Given the description of an element on the screen output the (x, y) to click on. 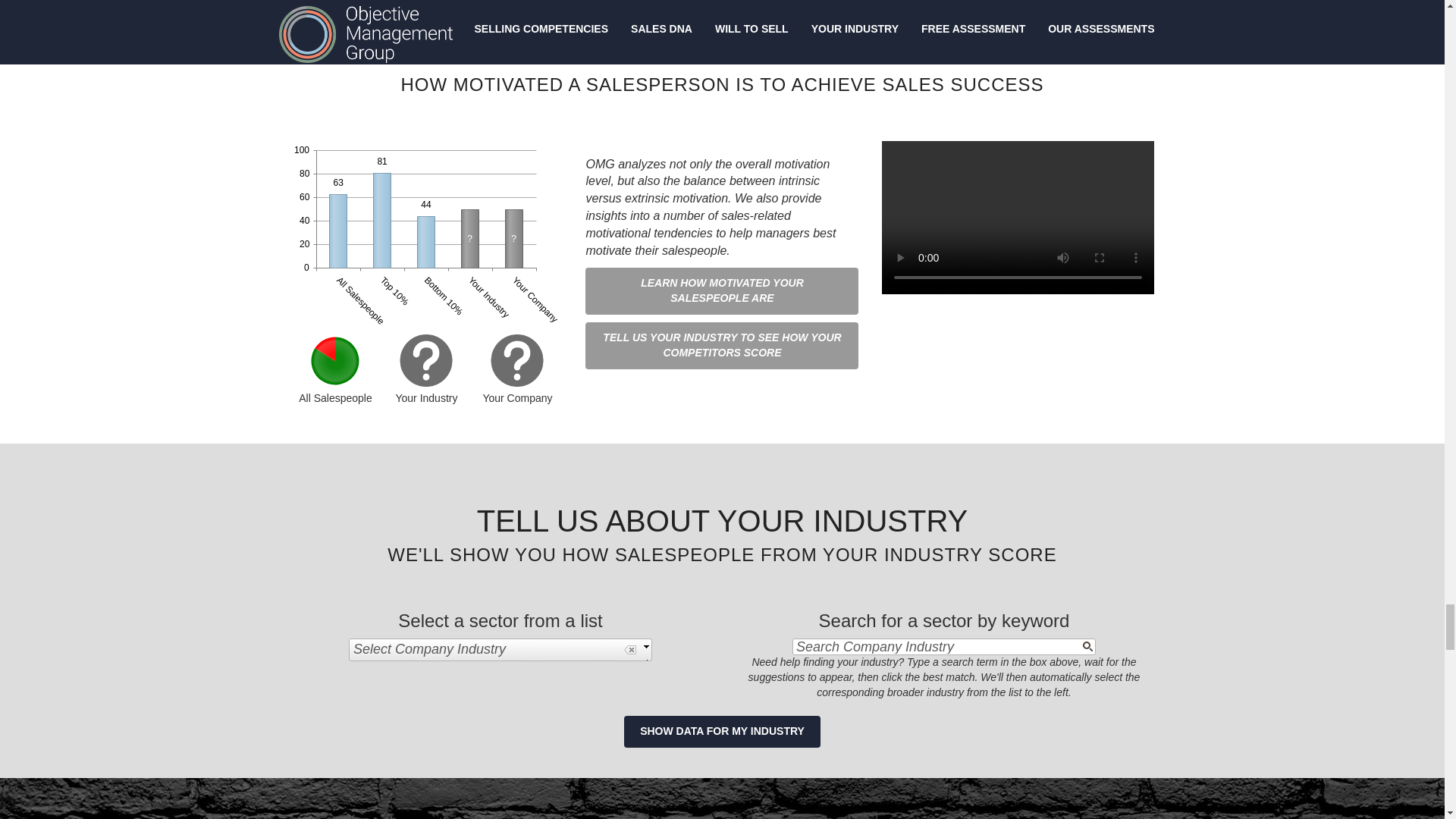
Select Company Industry (500, 649)
Search Company Industry (930, 646)
Clear (630, 649)
Show data for my industry (722, 731)
